Given the description of an element on the screen output the (x, y) to click on. 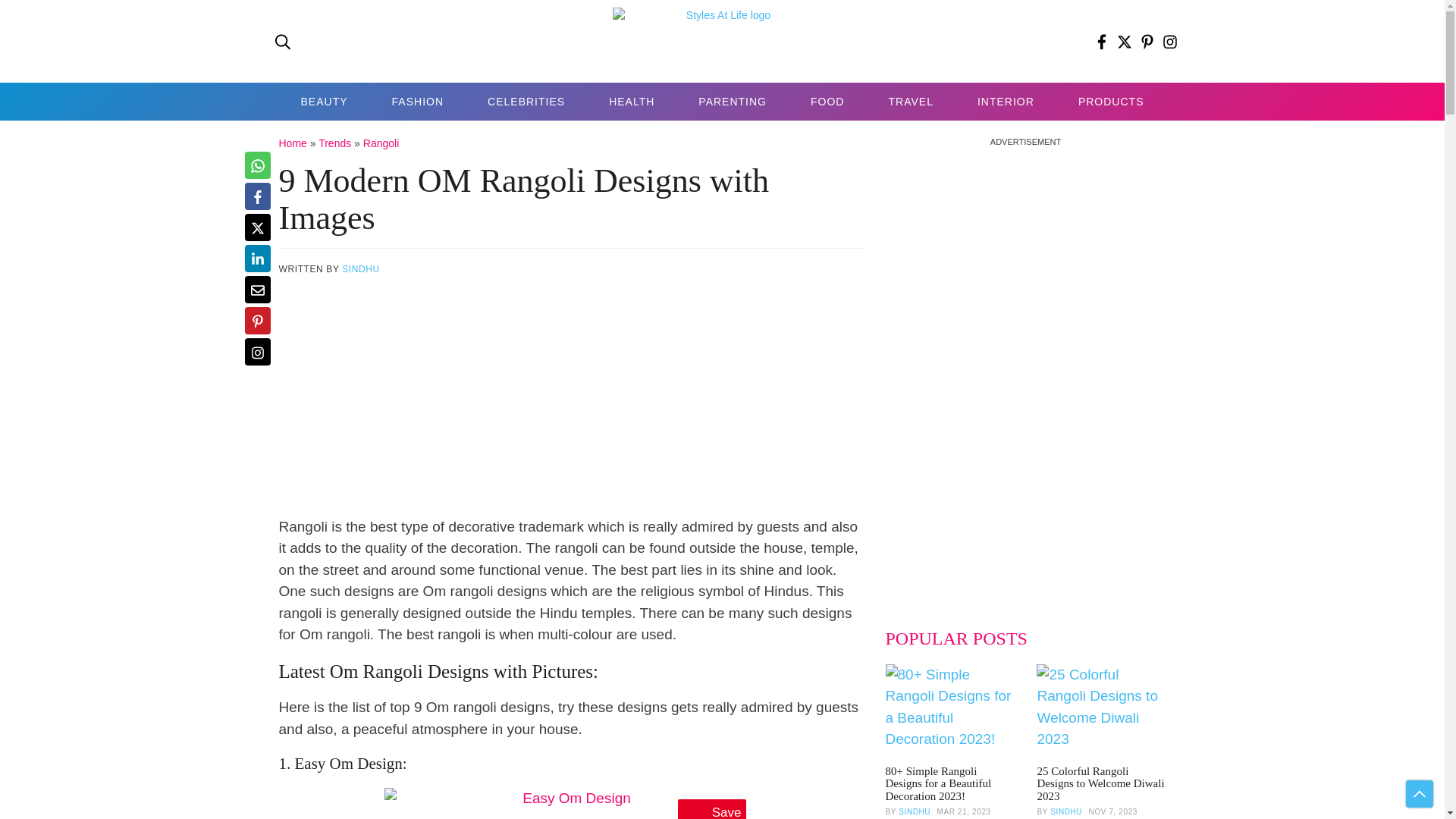
Email to a Friend (256, 289)
25 Colorful Rangoli Designs to Welcome Diwali 2023 (1101, 712)
Share on Twitter (256, 226)
CELEBRITIES (525, 101)
FOOD (827, 101)
SINDHU (361, 268)
FASHION (417, 101)
Share on WhatsApp (256, 165)
Pin on Pinterest (256, 320)
BEAUTY (324, 101)
Share on Instagram (256, 351)
Posts by Sindhu (1065, 811)
PRODUCTS (1111, 101)
HEALTH (631, 101)
Share on Facebook (256, 195)
